Given the description of an element on the screen output the (x, y) to click on. 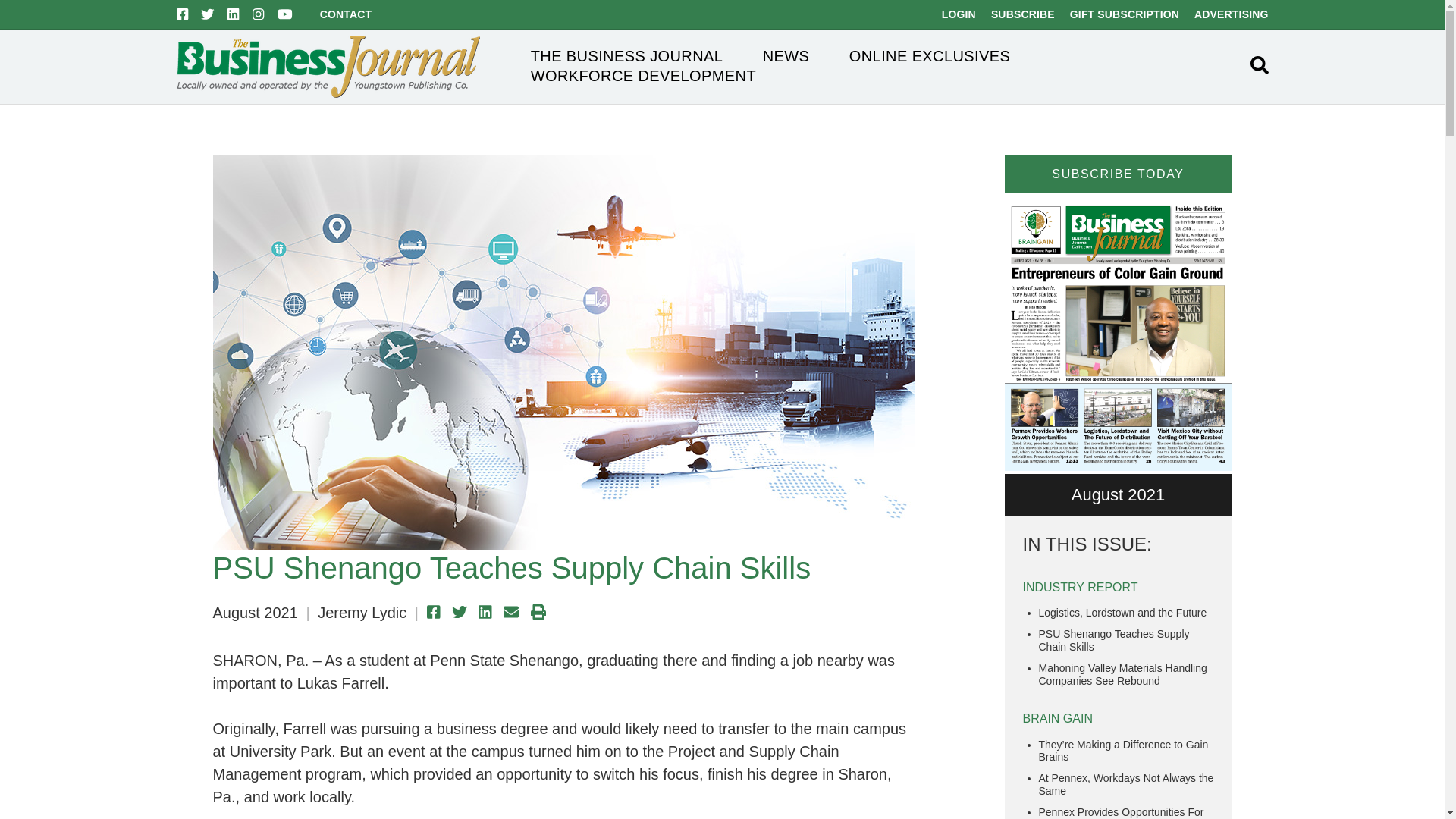
TWITTER (207, 14)
Share on Twitter (459, 611)
YouTube (285, 13)
YOUTUBE (285, 13)
NEWS (785, 55)
SUBSCRIBE (1022, 14)
TWITTER (207, 13)
ADVERTISING (1230, 14)
CONTACT (346, 14)
GIFT SUBSCRIPTION (1124, 14)
Share on email (510, 611)
Share on print (538, 611)
Share on Twitter (459, 611)
Twitter (207, 13)
LOGIN (958, 14)
